Given the description of an element on the screen output the (x, y) to click on. 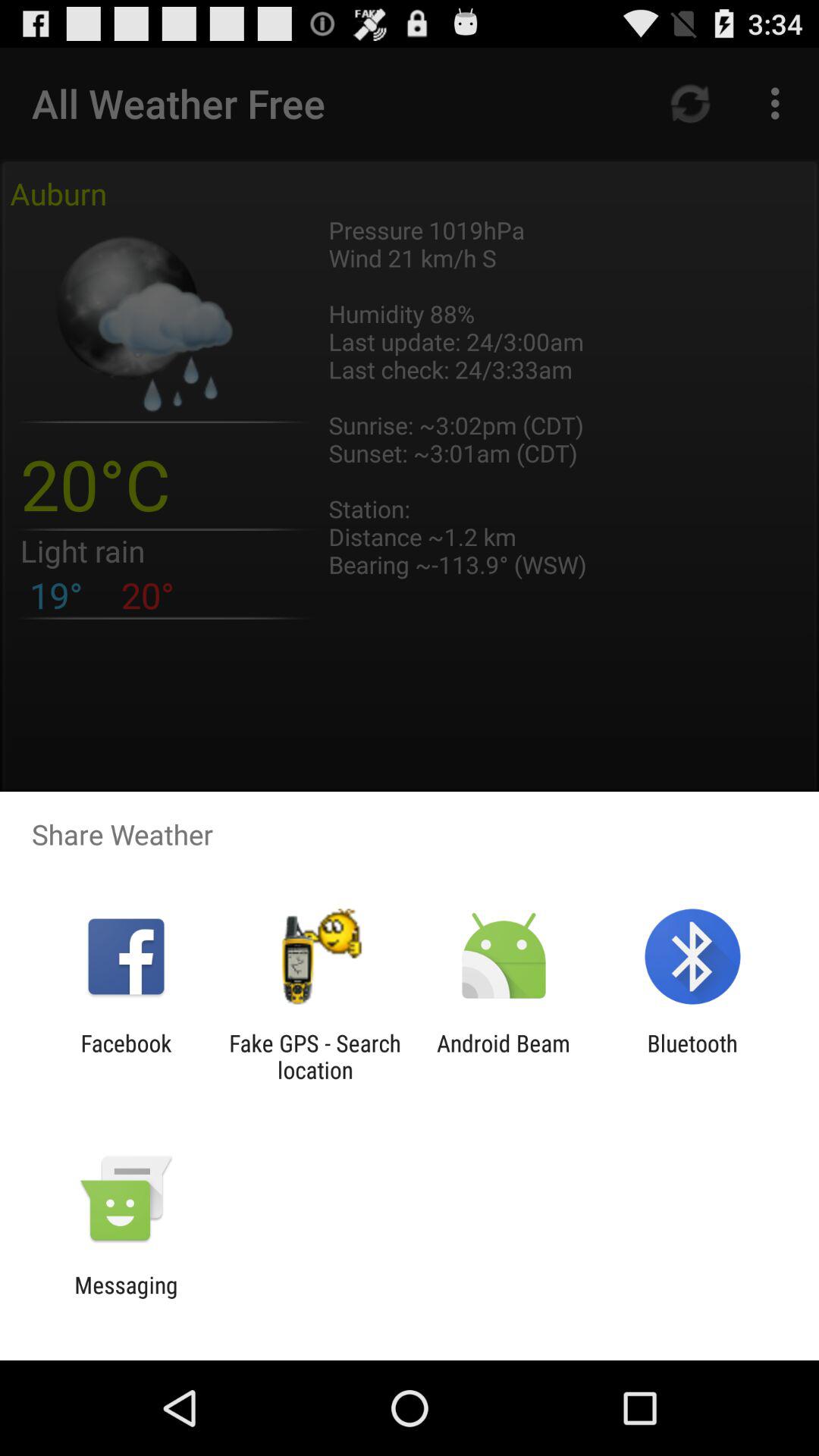
turn off the item to the left of android beam app (314, 1056)
